Given the description of an element on the screen output the (x, y) to click on. 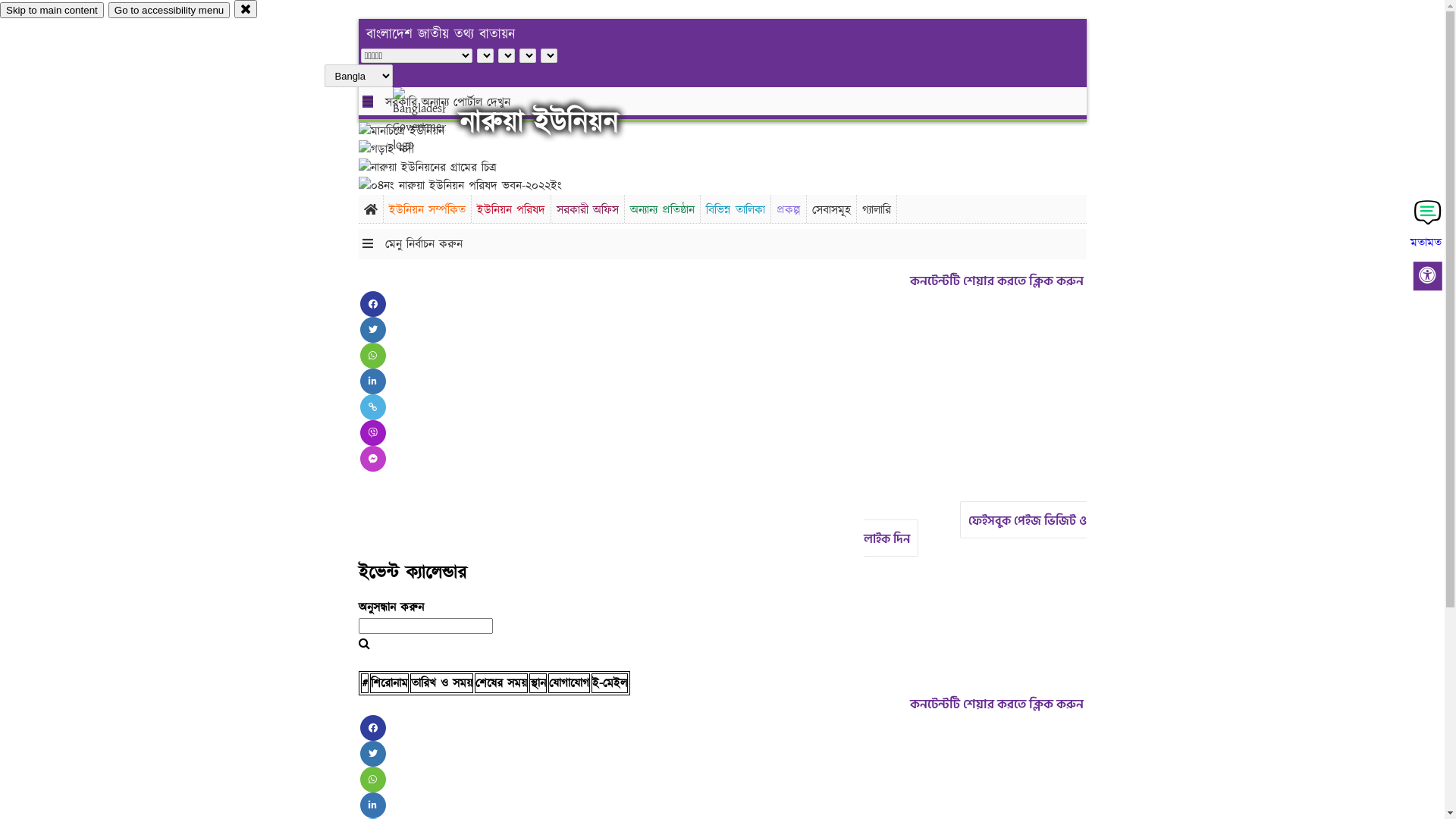
close Element type: hover (245, 9)

                
             Element type: hover (431, 120)
Skip to main content Element type: text (51, 10)
Go to accessibility menu Element type: text (168, 10)
